Given the description of an element on the screen output the (x, y) to click on. 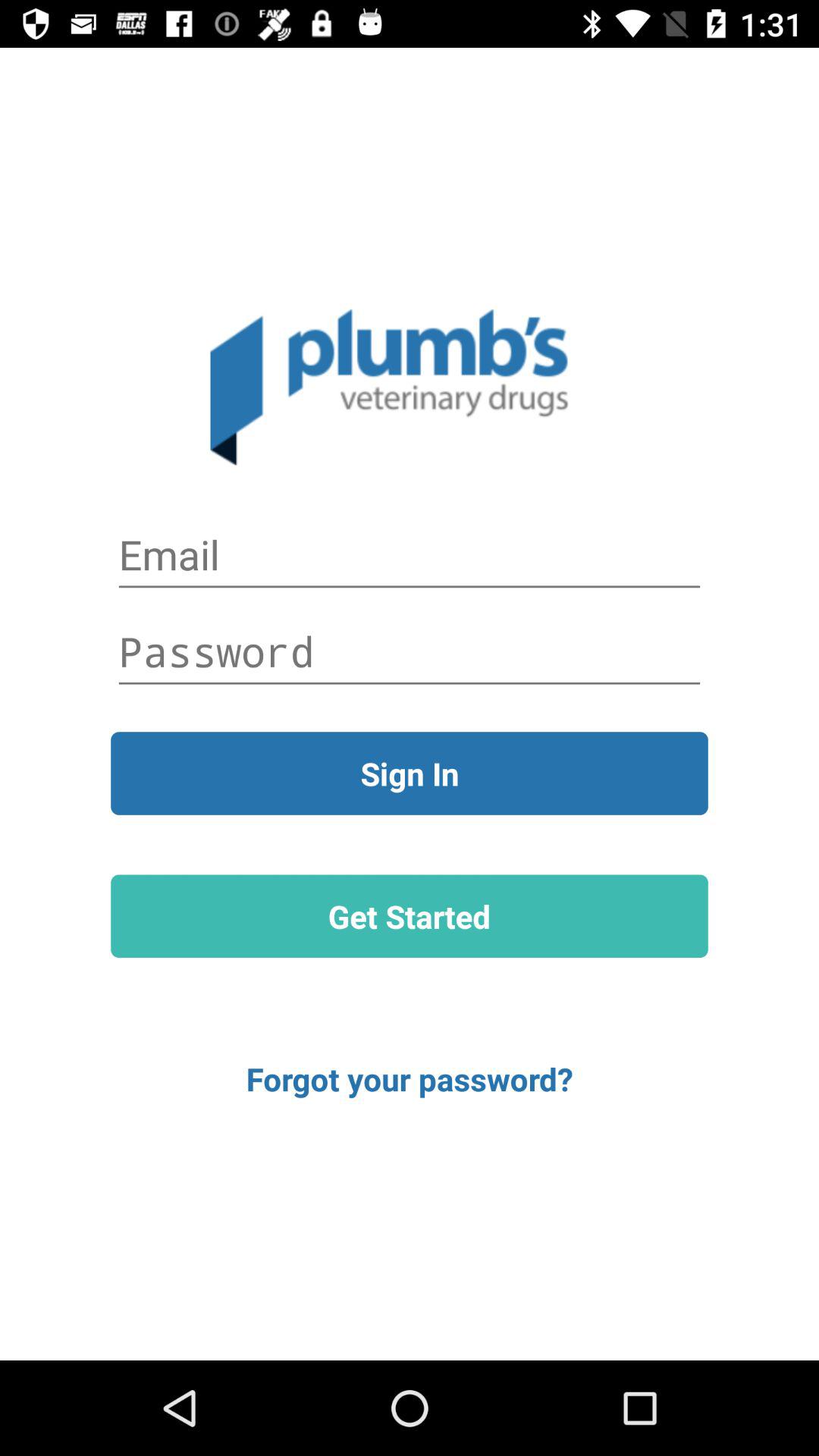
jump to forgot your password? item (409, 1078)
